Given the description of an element on the screen output the (x, y) to click on. 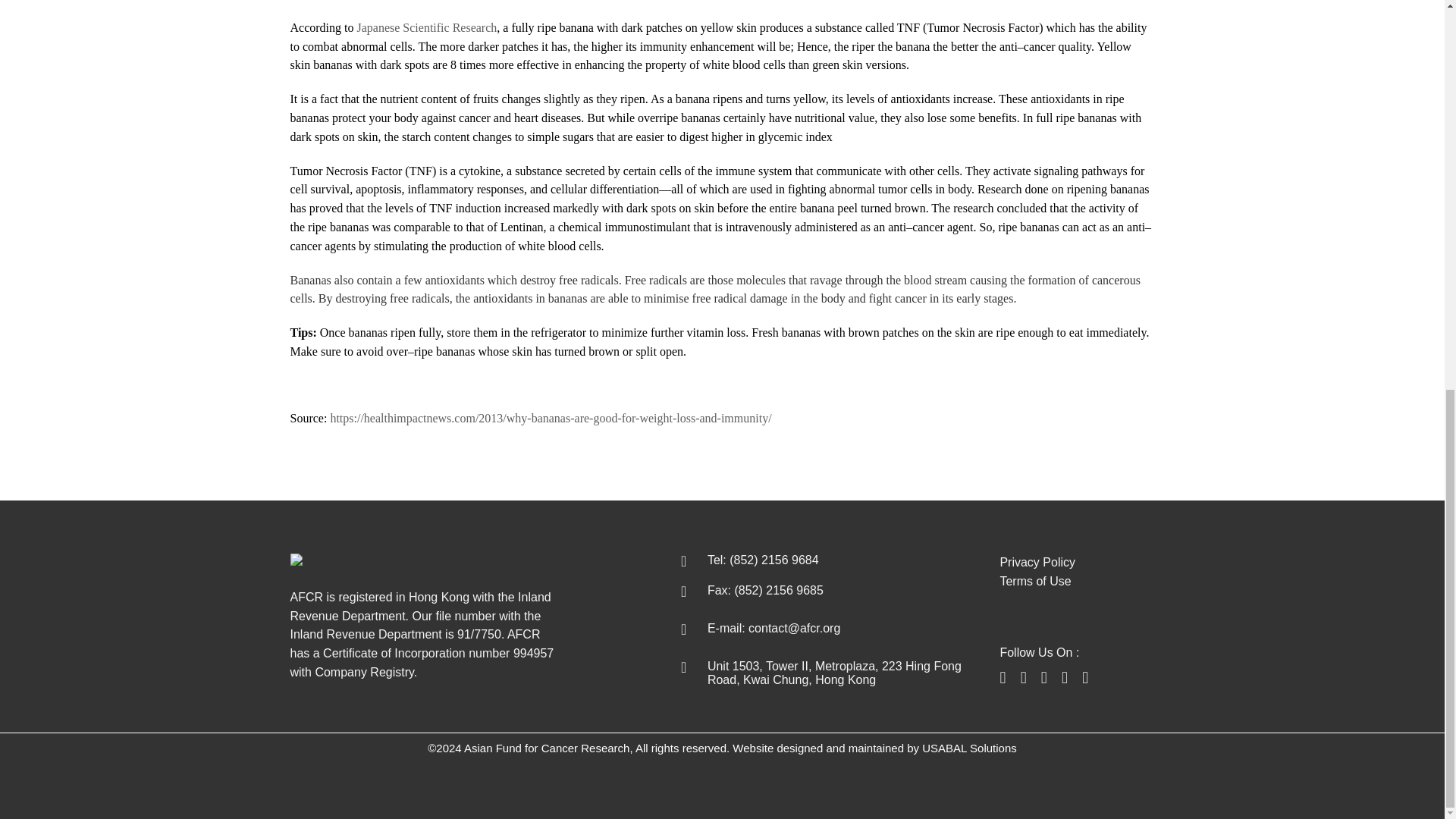
Japanese Scientific Research (426, 27)
